Given the description of an element on the screen output the (x, y) to click on. 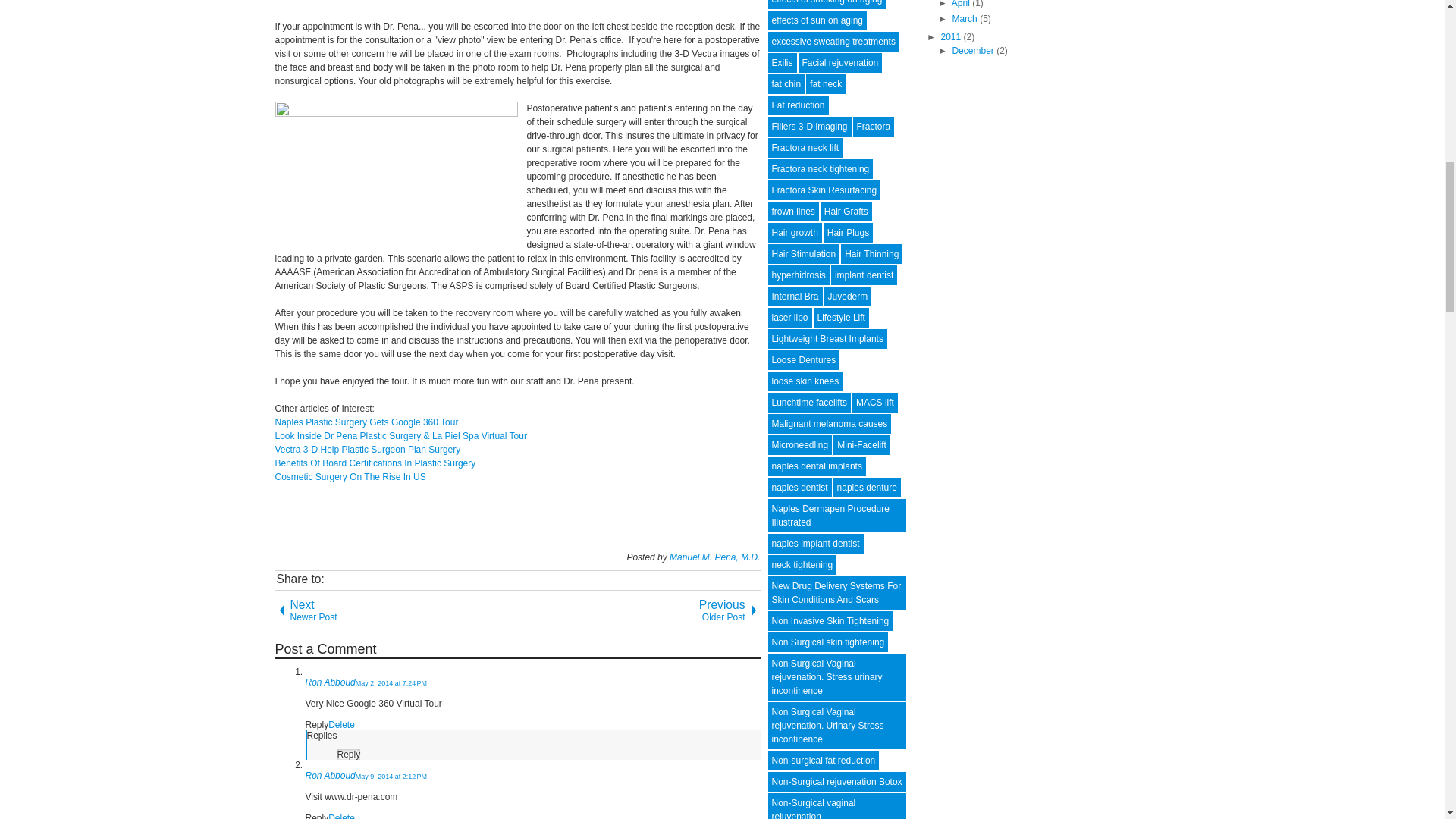
Older Post (638, 609)
Newer Post (395, 609)
author profile (714, 557)
